Given the description of an element on the screen output the (x, y) to click on. 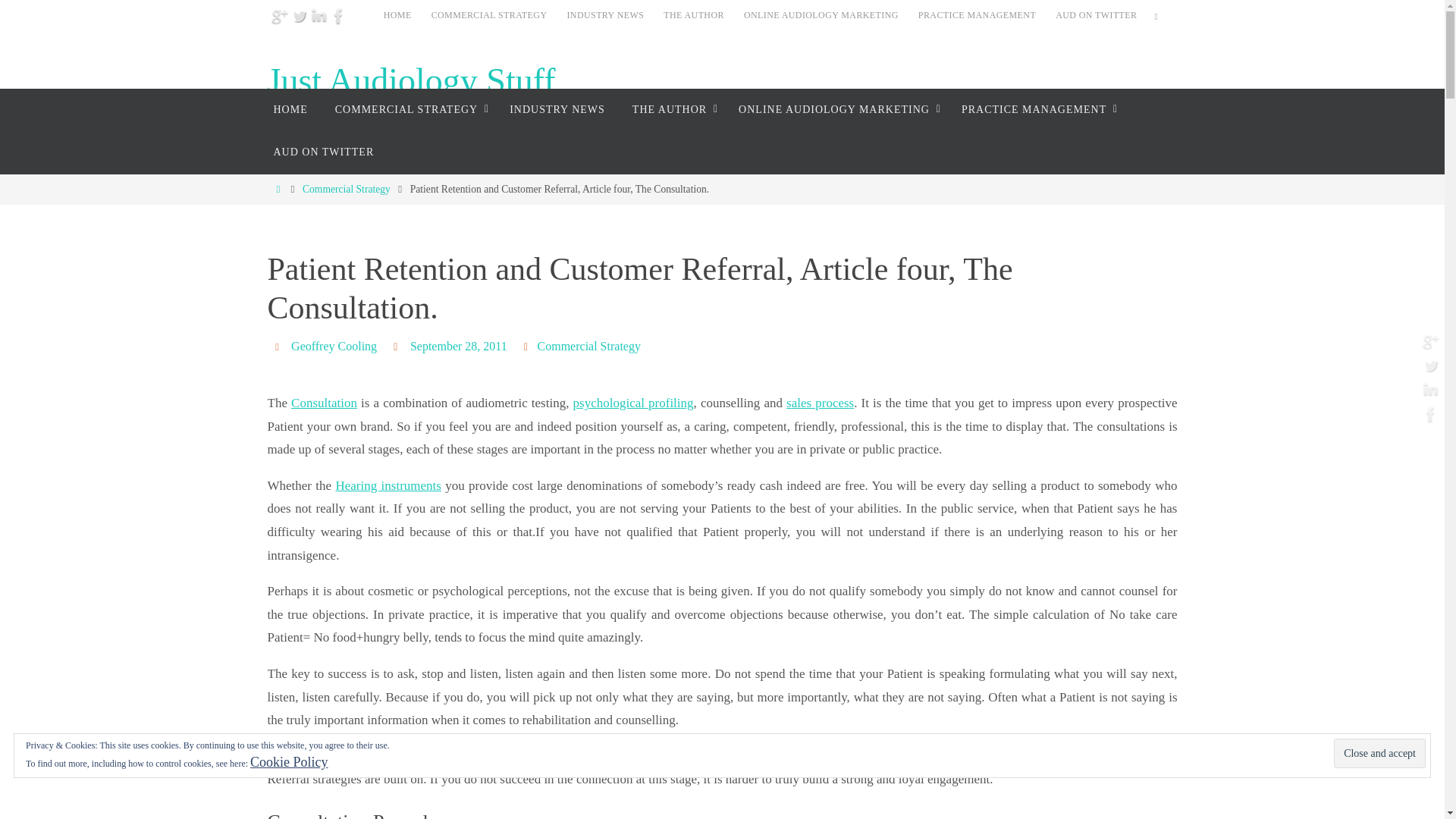
Facebook (338, 15)
INDUSTRY NEWS (604, 14)
Google Plus (278, 15)
Twitter (298, 15)
Commercial Strategy (346, 188)
ONLINE AUDIOLOGY MARKETING (820, 14)
PRACTICE MANAGEMENT (1035, 109)
THE AUTHOR (694, 14)
View all posts by Geoffrey Cooling (334, 345)
PRACTICE MANAGEMENT (977, 14)
Just Audiology Stuff (410, 81)
COMMERCIAL STRATEGY (408, 109)
COMMERCIAL STRATEGY (488, 14)
HOME (397, 14)
Author  (278, 345)
